Given the description of an element on the screen output the (x, y) to click on. 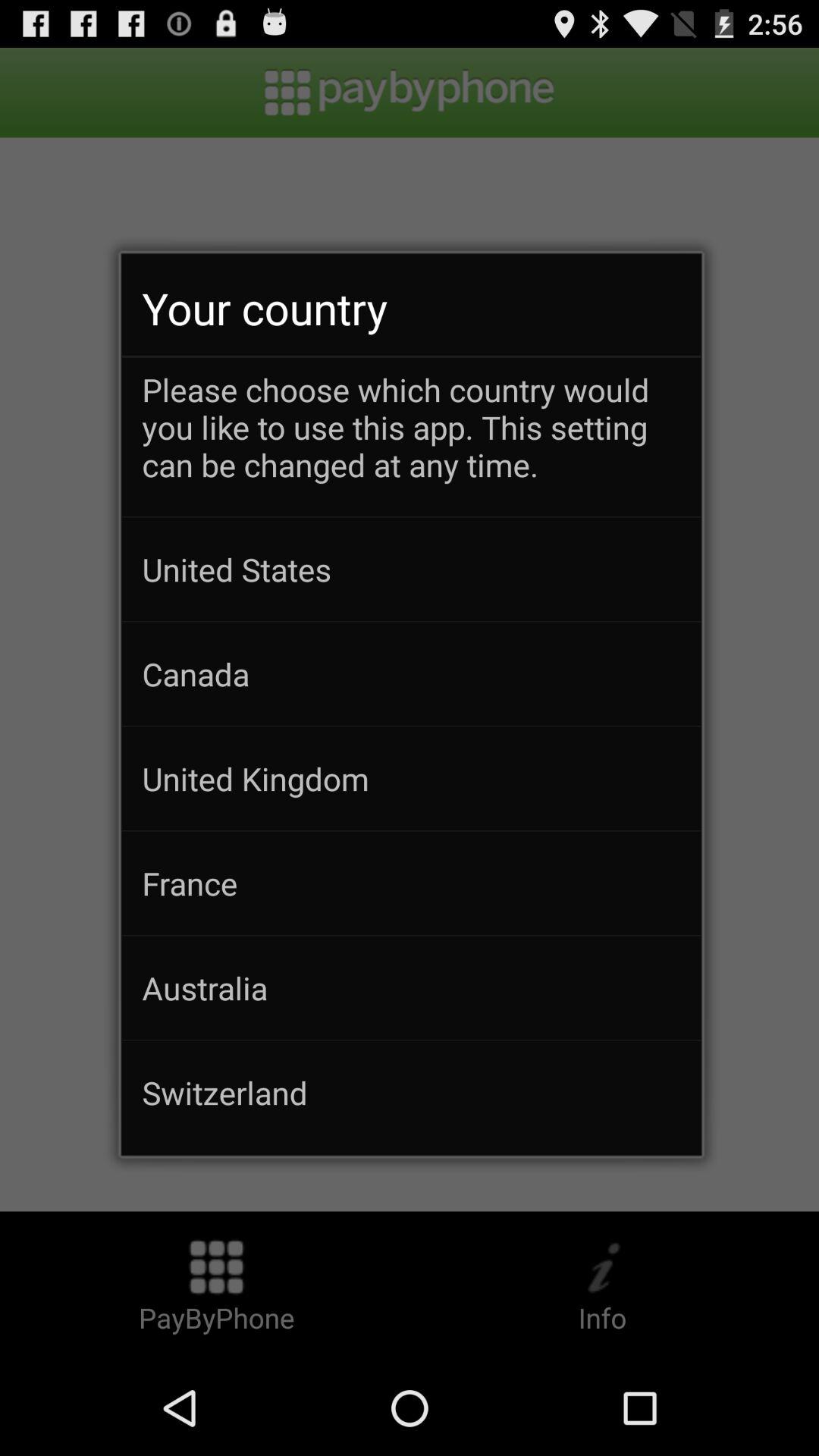
select united kingdom icon (411, 778)
